Given the description of an element on the screen output the (x, y) to click on. 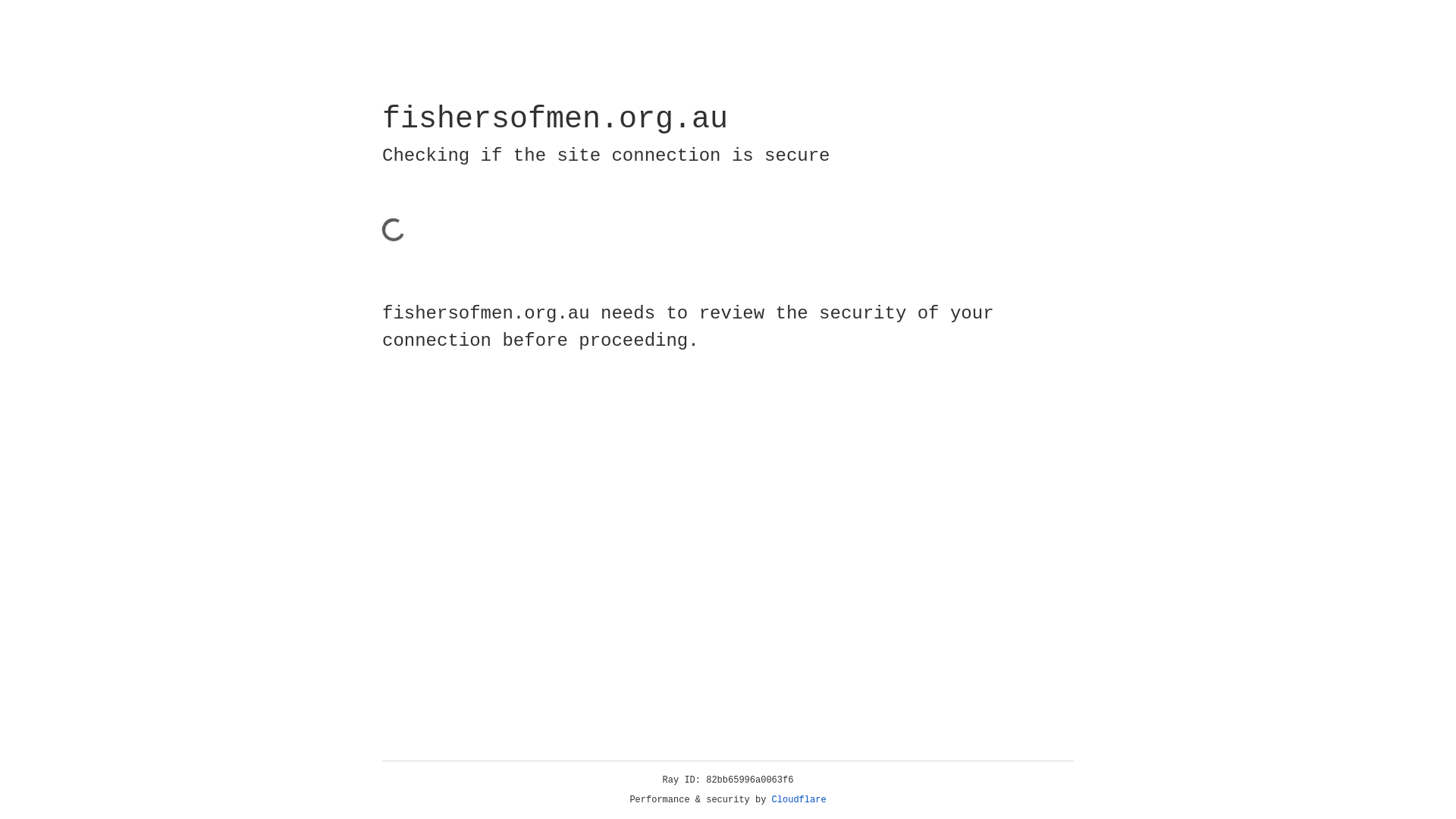
Cloudflare Element type: text (798, 799)
